Given the description of an element on the screen output the (x, y) to click on. 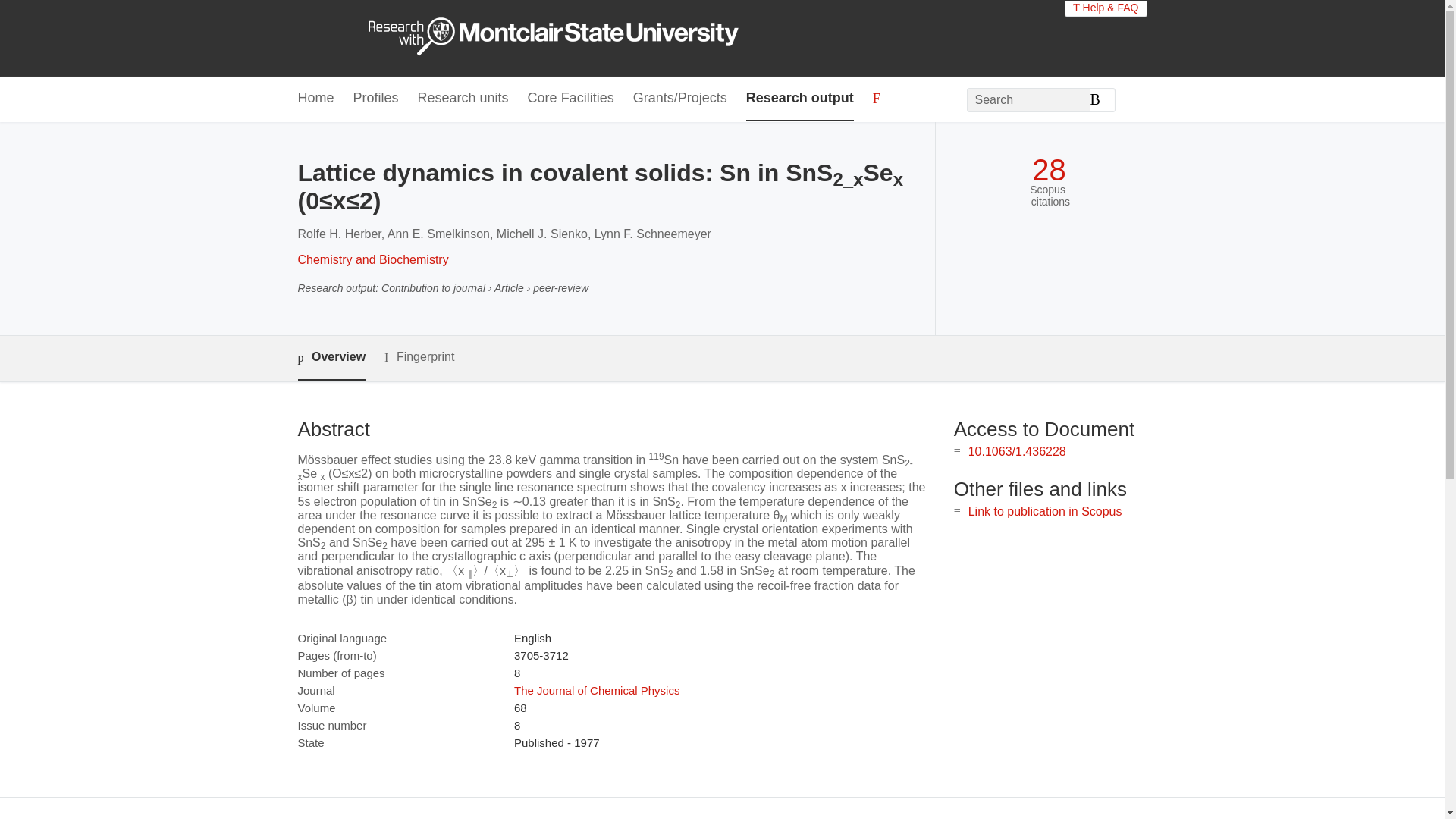
28 (1048, 170)
Montclair State University Home (567, 38)
Fingerprint (419, 357)
Profiles (375, 98)
Chemistry and Biochemistry (372, 259)
The Journal of Chemical Physics (596, 689)
Link to publication in Scopus (1045, 511)
Overview (331, 357)
Research units (462, 98)
Research output (799, 98)
Core Facilities (570, 98)
